Given the description of an element on the screen output the (x, y) to click on. 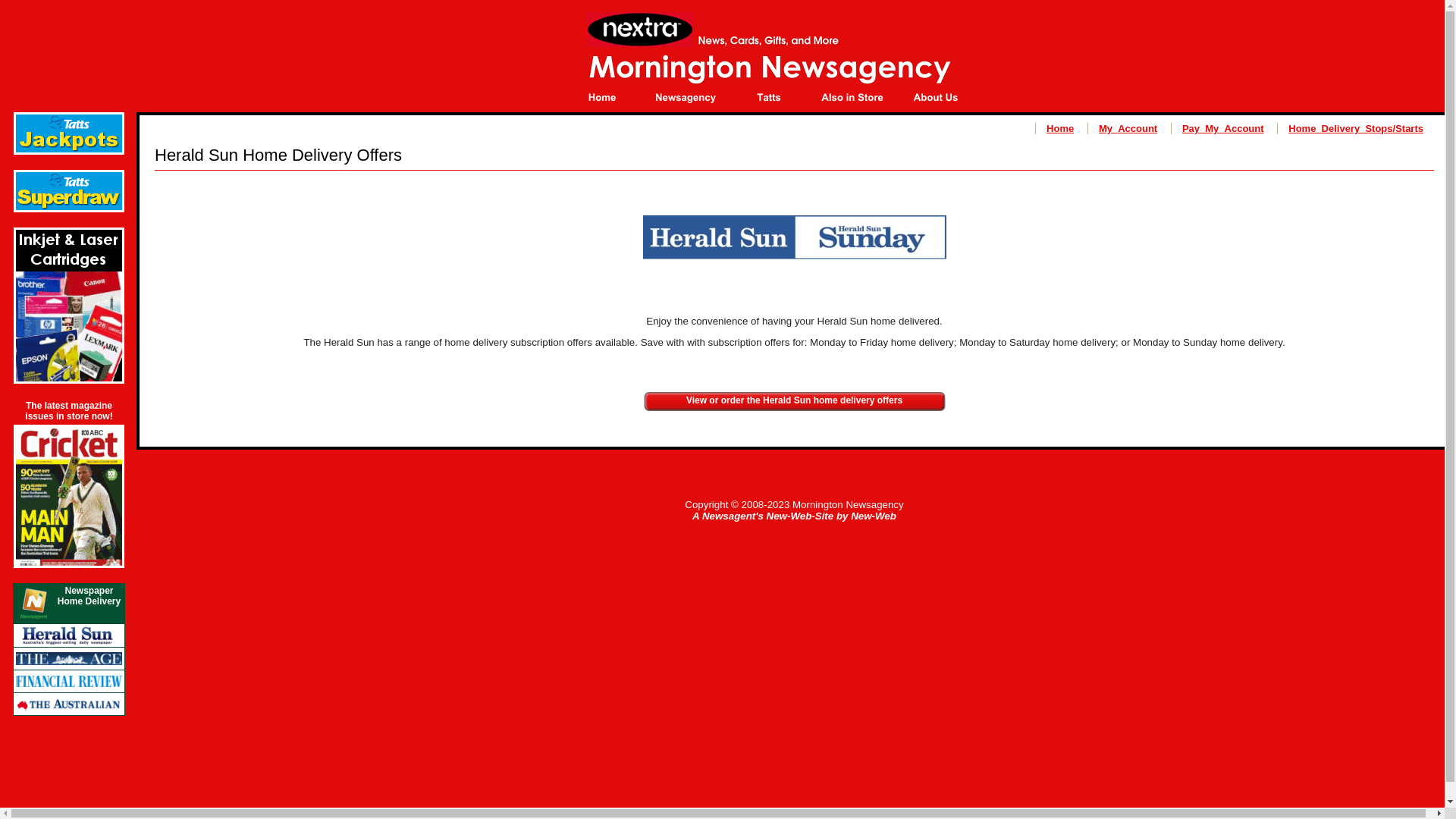
My_Account Element type: text (1127, 128)
Click here to view this week's Tatts jackpots. Element type: hover (68, 149)
Click here to view larger image. Element type: hover (68, 563)
Home Element type: text (1059, 128)
Home_Delivery_Stops/Starts Element type: text (1355, 128)
The latest magazine
issues in store now! Element type: text (68, 410)
New-Web Element type: text (873, 515)
View or order the Herald Sun home delivery offers Element type: text (794, 400)
Pay_My_Account Element type: text (1223, 128)
Click here to view or order The Age home delivery offer. Element type: hover (68, 664)
